Given the description of an element on the screen output the (x, y) to click on. 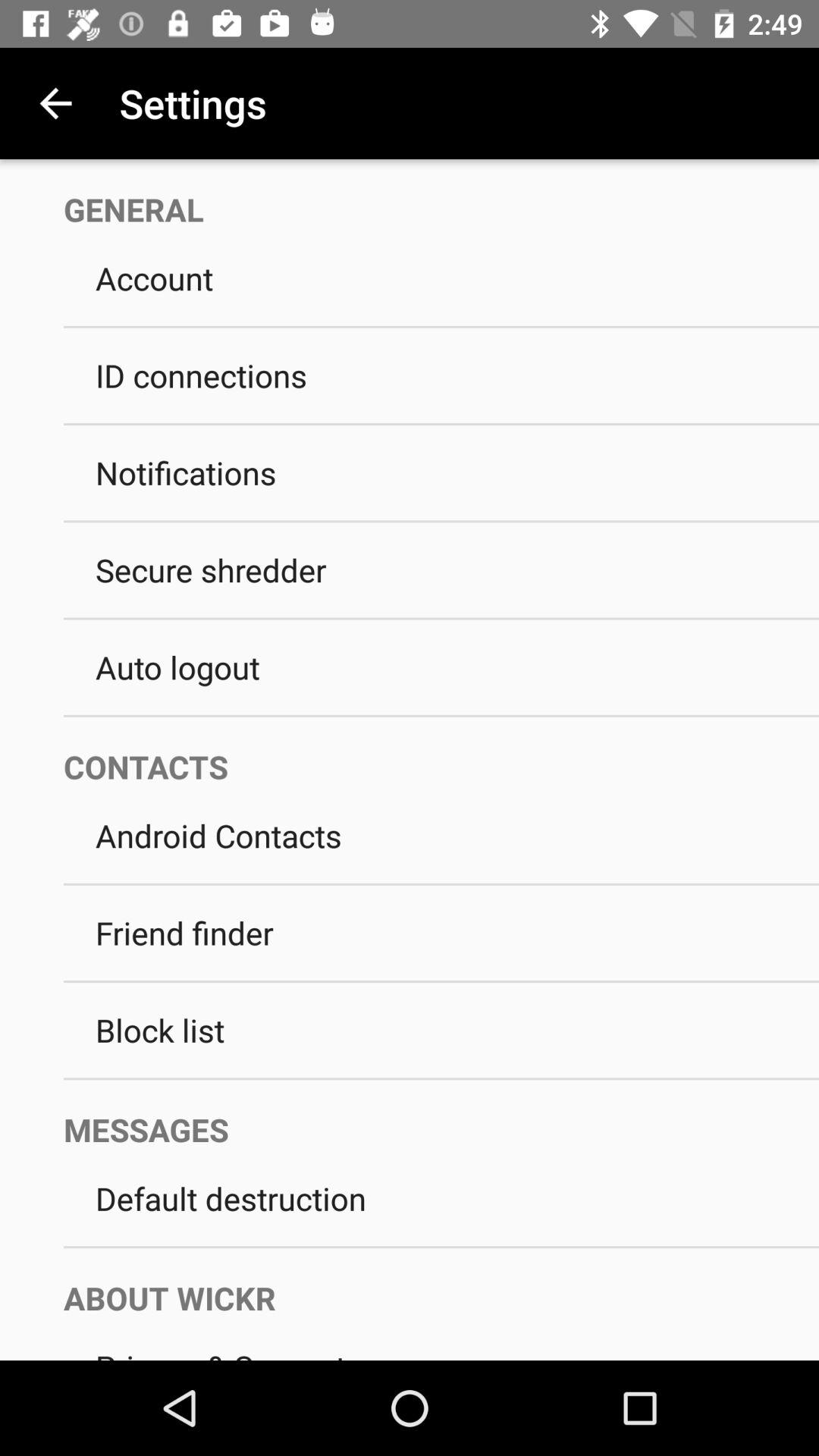
scroll until default destruction item (441, 1198)
